Given the description of an element on the screen output the (x, y) to click on. 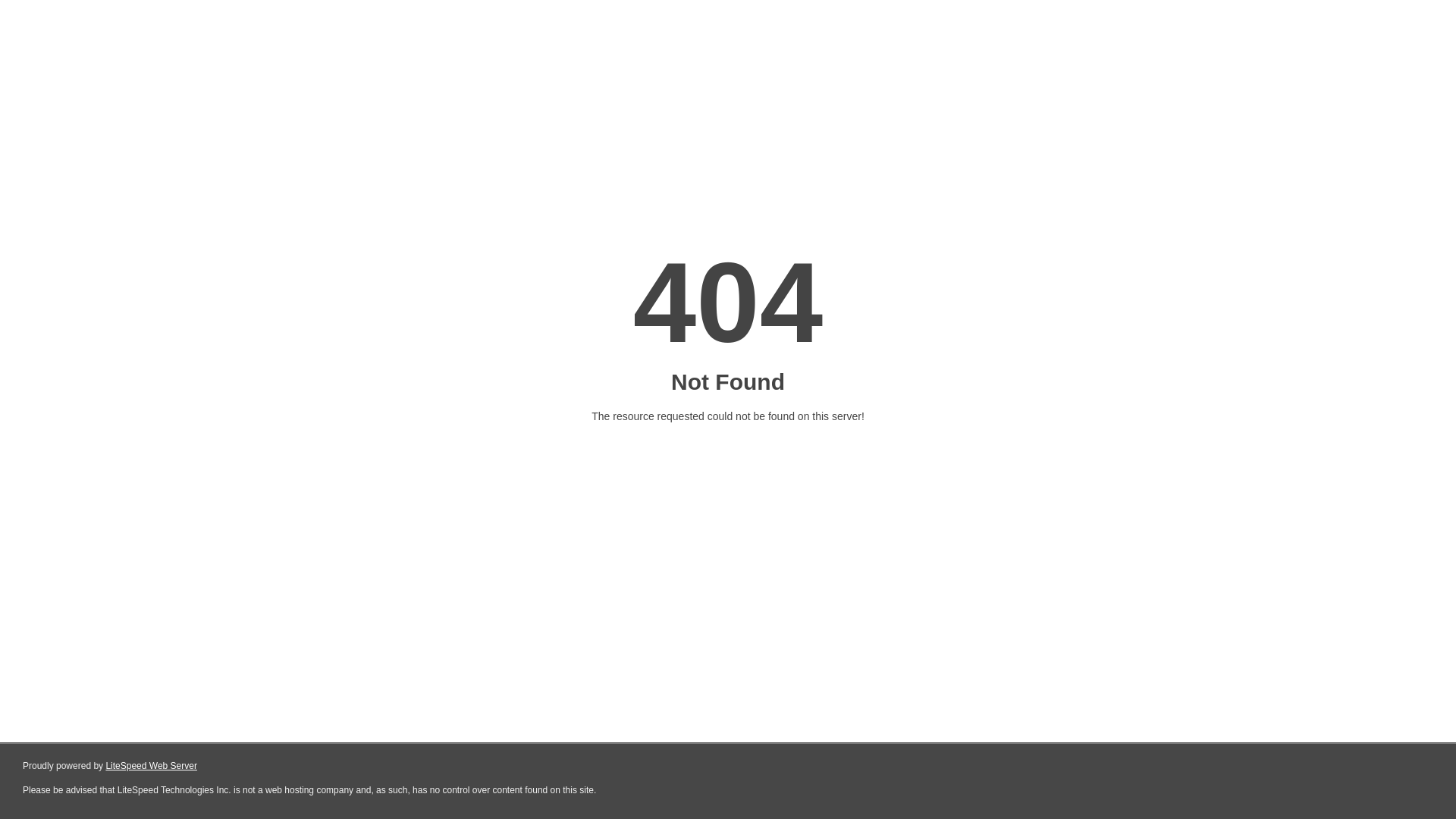
LiteSpeed Web Server Element type: text (151, 765)
